Given the description of an element on the screen output the (x, y) to click on. 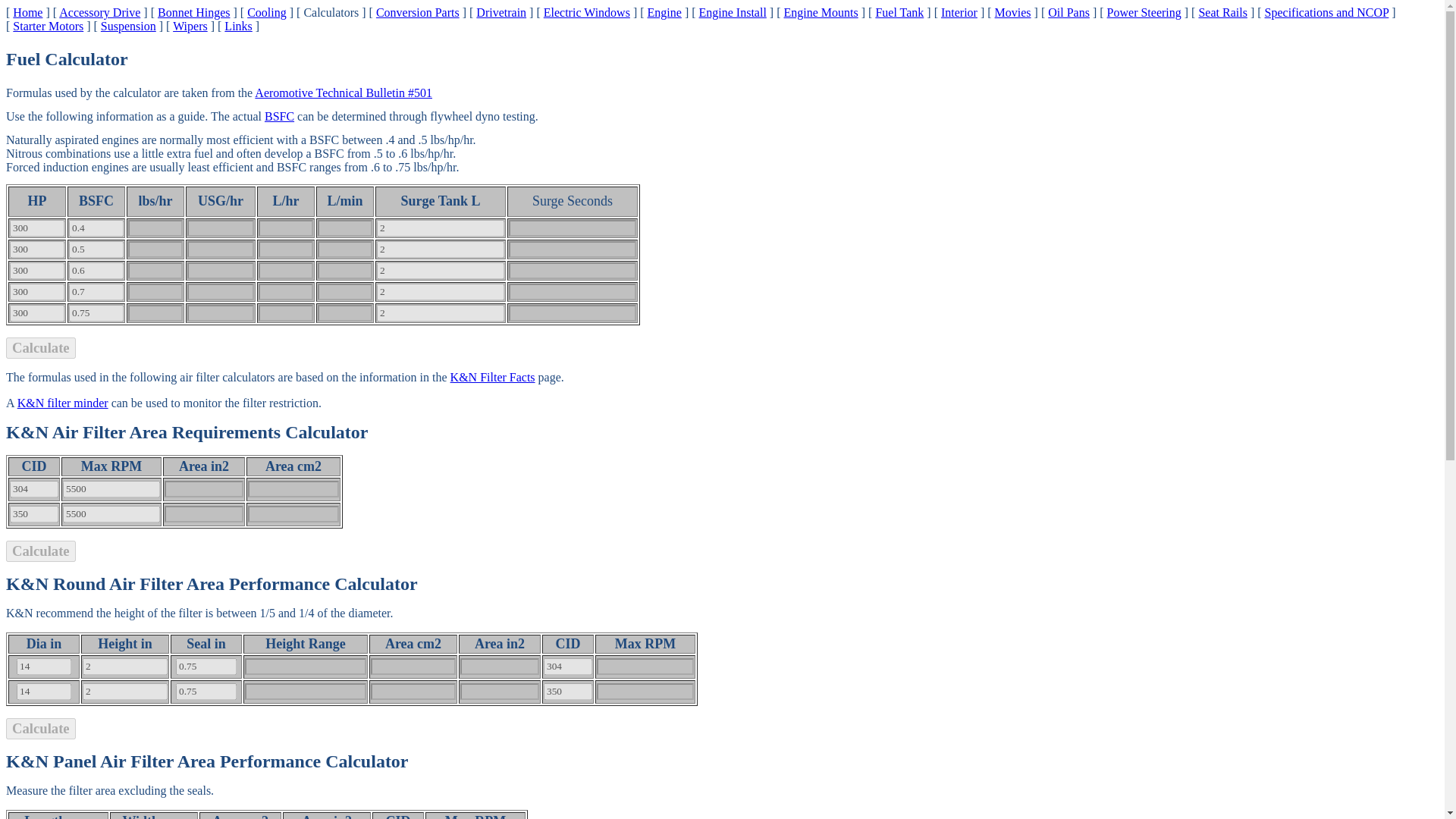
Wipers (190, 25)
Home (27, 11)
Accessory Drive (99, 11)
BSFC (279, 115)
300 (37, 228)
300 (37, 270)
0.5 (95, 248)
Interior (958, 11)
Links (237, 25)
Oil Pans (1068, 11)
Electric Windows (586, 11)
Power Steering (1143, 11)
0.4 (95, 228)
0.6 (95, 270)
Engine Install (732, 11)
